Given the description of an element on the screen output the (x, y) to click on. 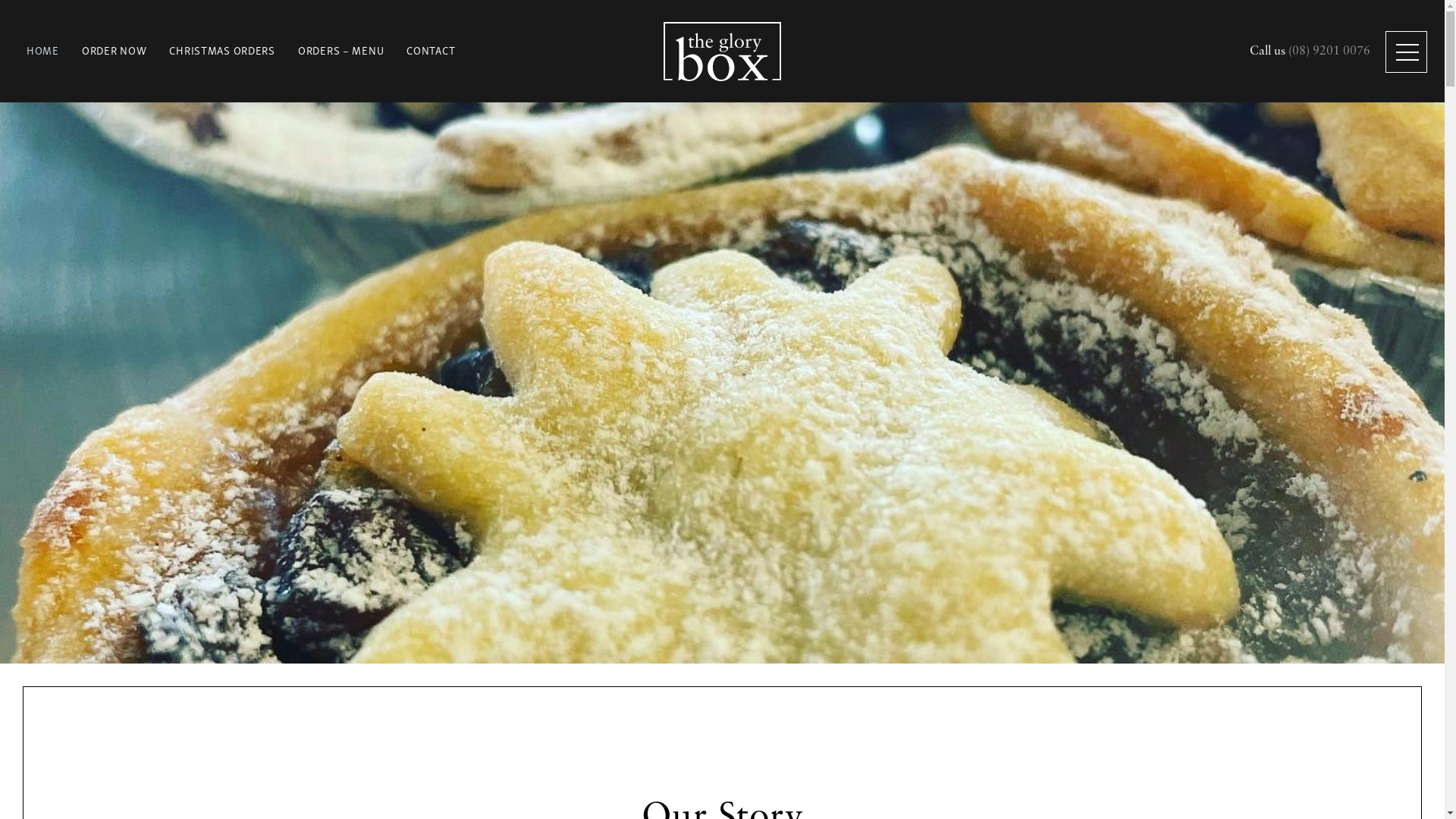
(08) 9201 0076 Element type: text (1329, 51)
ORDER NOW Element type: text (114, 49)
Menu Element type: text (1406, 52)
HOME Element type: text (42, 49)
CHRISTMAS ORDERS Element type: text (222, 49)
CONTACT Element type: text (430, 49)
